Given the description of an element on the screen output the (x, y) to click on. 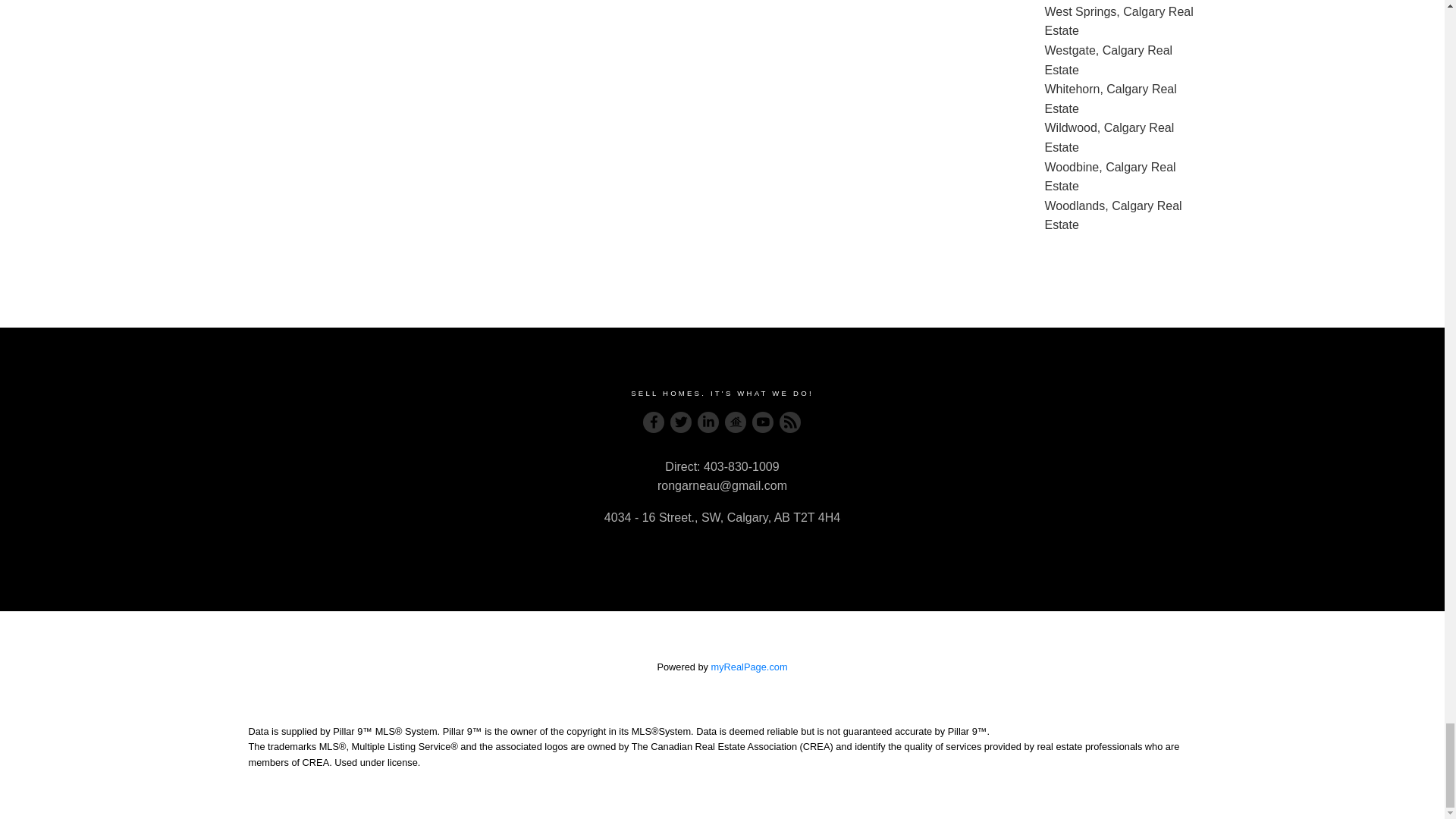
Rank My Agent (735, 422)
Blog (789, 422)
Twitter (680, 422)
YouTube (762, 422)
Facebook (653, 422)
linkedin (708, 422)
